Given the description of an element on the screen output the (x, y) to click on. 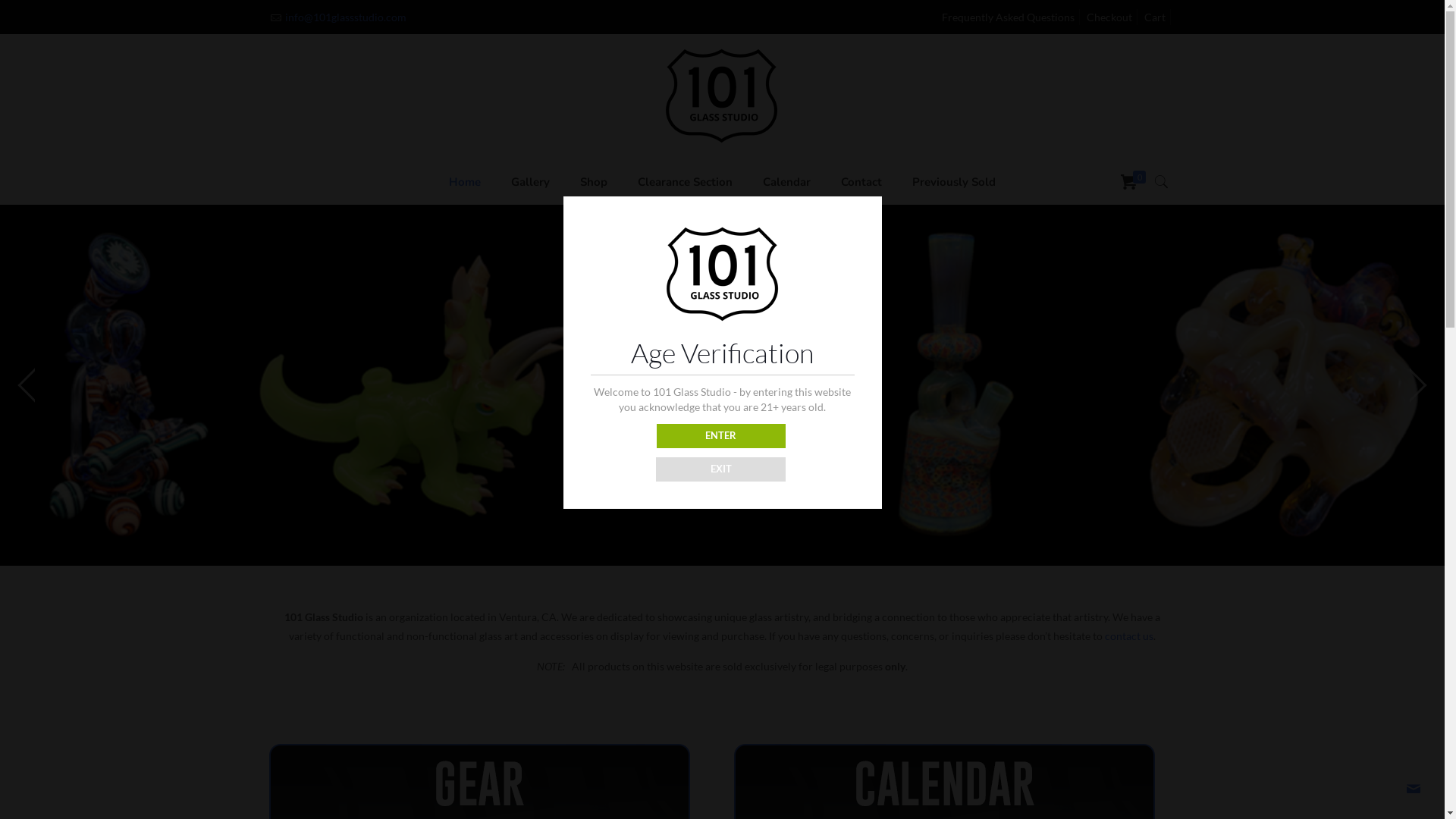
101 Glass Studio Element type: hover (721, 96)
info@101glassstudio.com Element type: text (345, 16)
Contact Element type: text (861, 181)
EXIT Element type: text (720, 469)
contact us Element type: text (1128, 635)
Clearance Section Element type: text (684, 181)
Previously Sold Element type: text (953, 181)
ENTER Element type: text (721, 435)
Gallery Element type: text (529, 181)
Home Element type: text (464, 181)
0 Element type: text (1135, 182)
Calendar Element type: text (786, 181)
Frequently Asked Questions Element type: text (1007, 16)
Shop Element type: text (593, 181)
Checkout Element type: text (1109, 16)
Cart Element type: text (1154, 16)
